Given the description of an element on the screen output the (x, y) to click on. 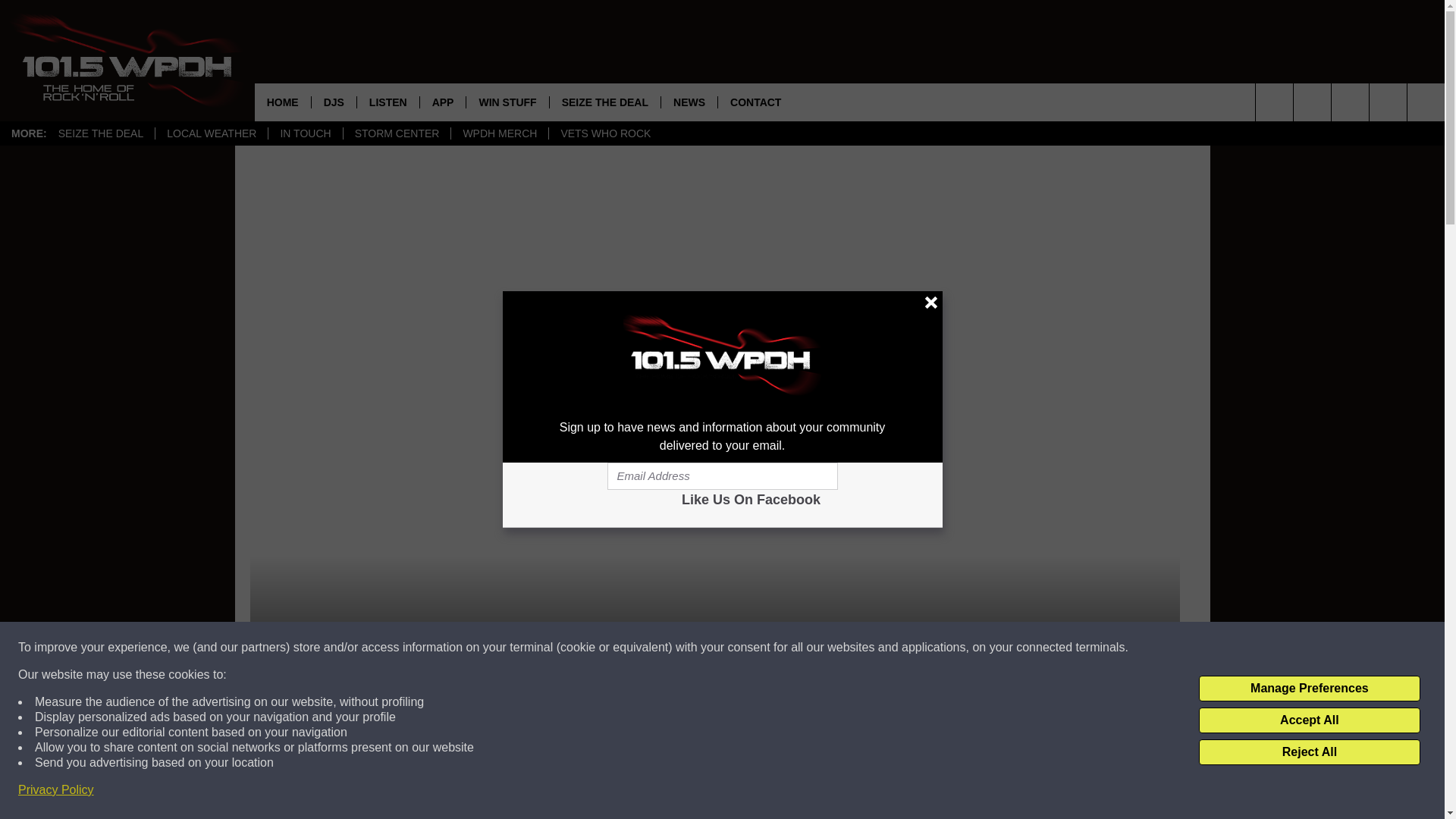
WPDH MERCH (498, 133)
IN TOUCH (304, 133)
APP (442, 102)
SEIZE THE DEAL (604, 102)
SEIZE THE DEAL (100, 133)
VETS WHO ROCK (605, 133)
Manage Preferences (1309, 688)
Accept All (1309, 720)
STORM CENTER (396, 133)
HOME (282, 102)
Email Address (722, 475)
NEWS (689, 102)
CONTACT (755, 102)
Reject All (1309, 751)
LISTEN (387, 102)
